Given the description of an element on the screen output the (x, y) to click on. 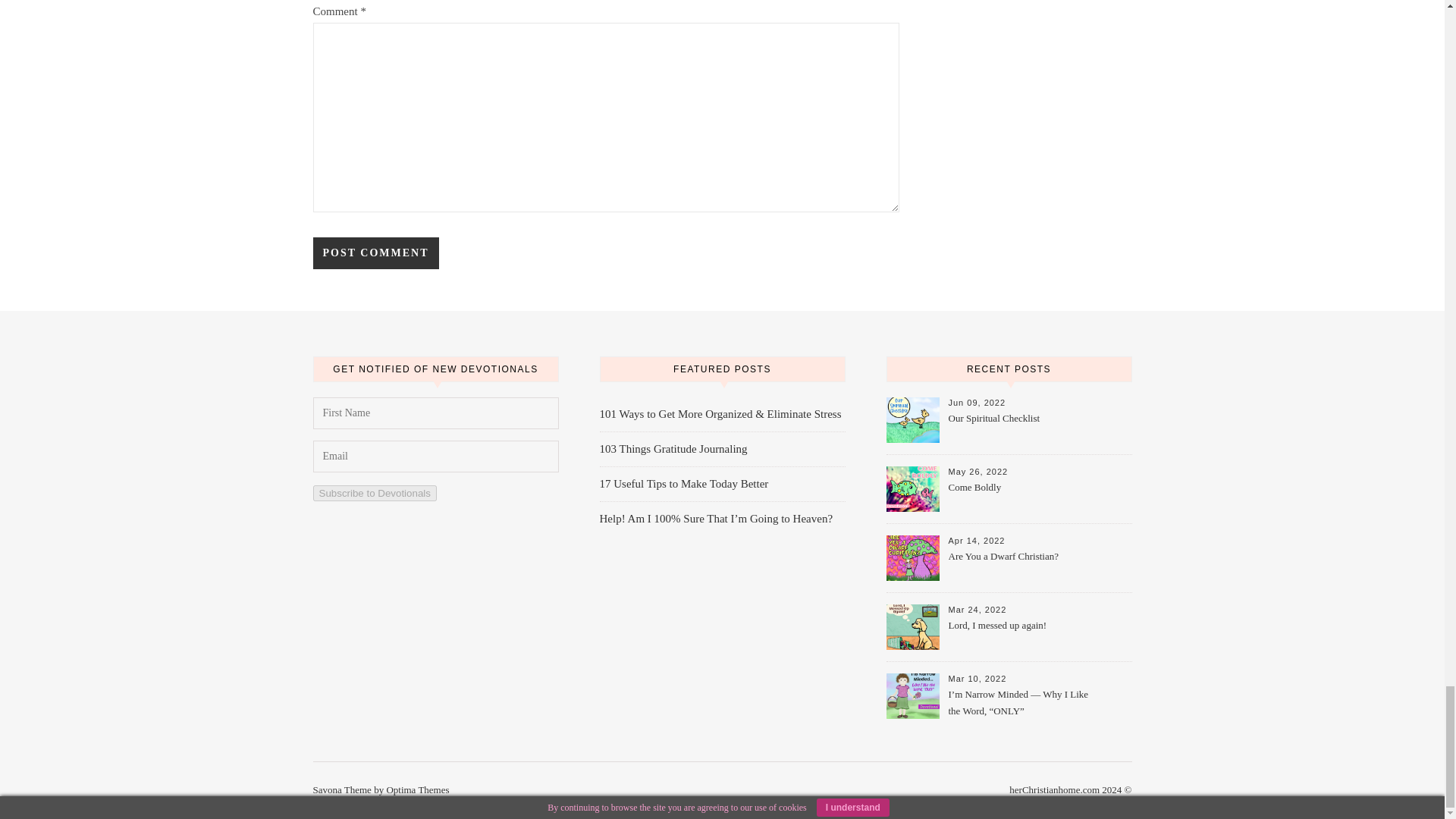
Post Comment (375, 253)
